Given the description of an element on the screen output the (x, y) to click on. 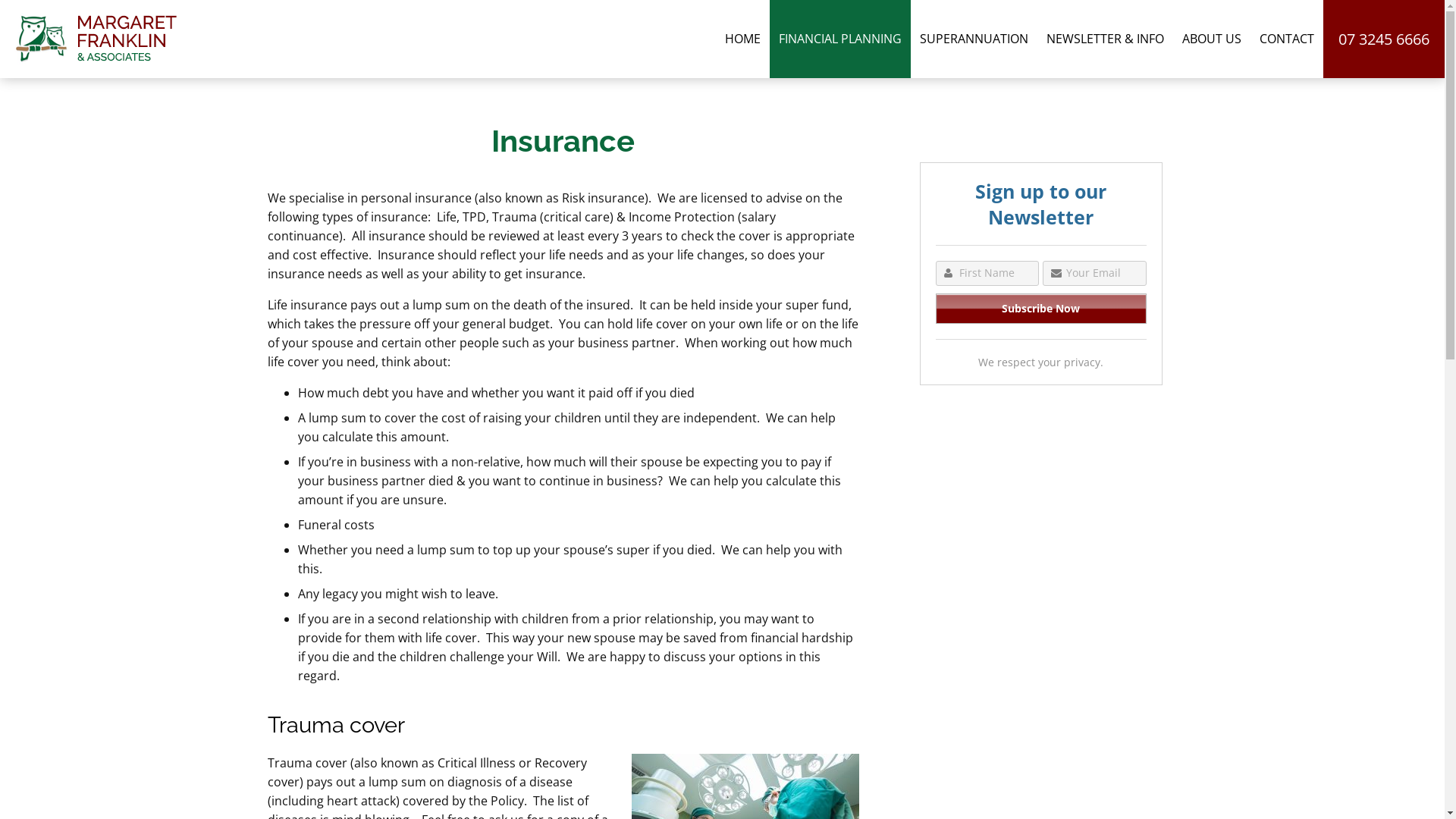
HOME Element type: text (742, 39)
07 3245 6666 Element type: text (1383, 39)
SUPERANNUATION Element type: text (973, 39)
Subscribe Now Element type: text (1040, 308)
NEWSLETTER & INFO Element type: text (1105, 39)
CONTACT Element type: text (1286, 39)
ABOUT US Element type: text (1211, 39)
FINANCIAL PLANNING Element type: text (839, 39)
